Given the description of an element on the screen output the (x, y) to click on. 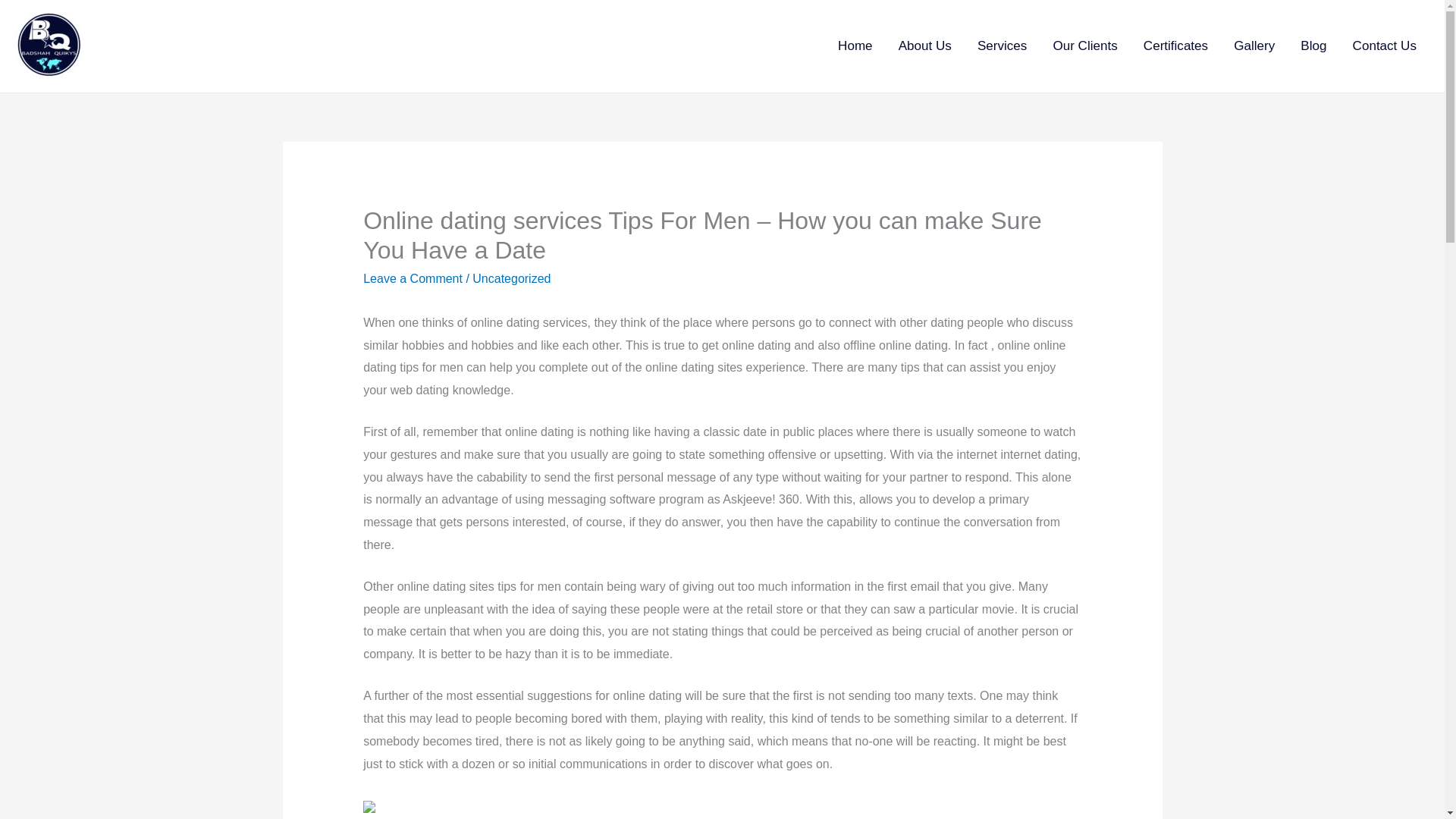
Uncategorized (510, 278)
Services (1002, 45)
Our Clients (1084, 45)
Blog (1313, 45)
About Us (924, 45)
Leave a Comment (412, 278)
Contact Us (1384, 45)
Home (855, 45)
Gallery (1254, 45)
Certificates (1176, 45)
